Given the description of an element on the screen output the (x, y) to click on. 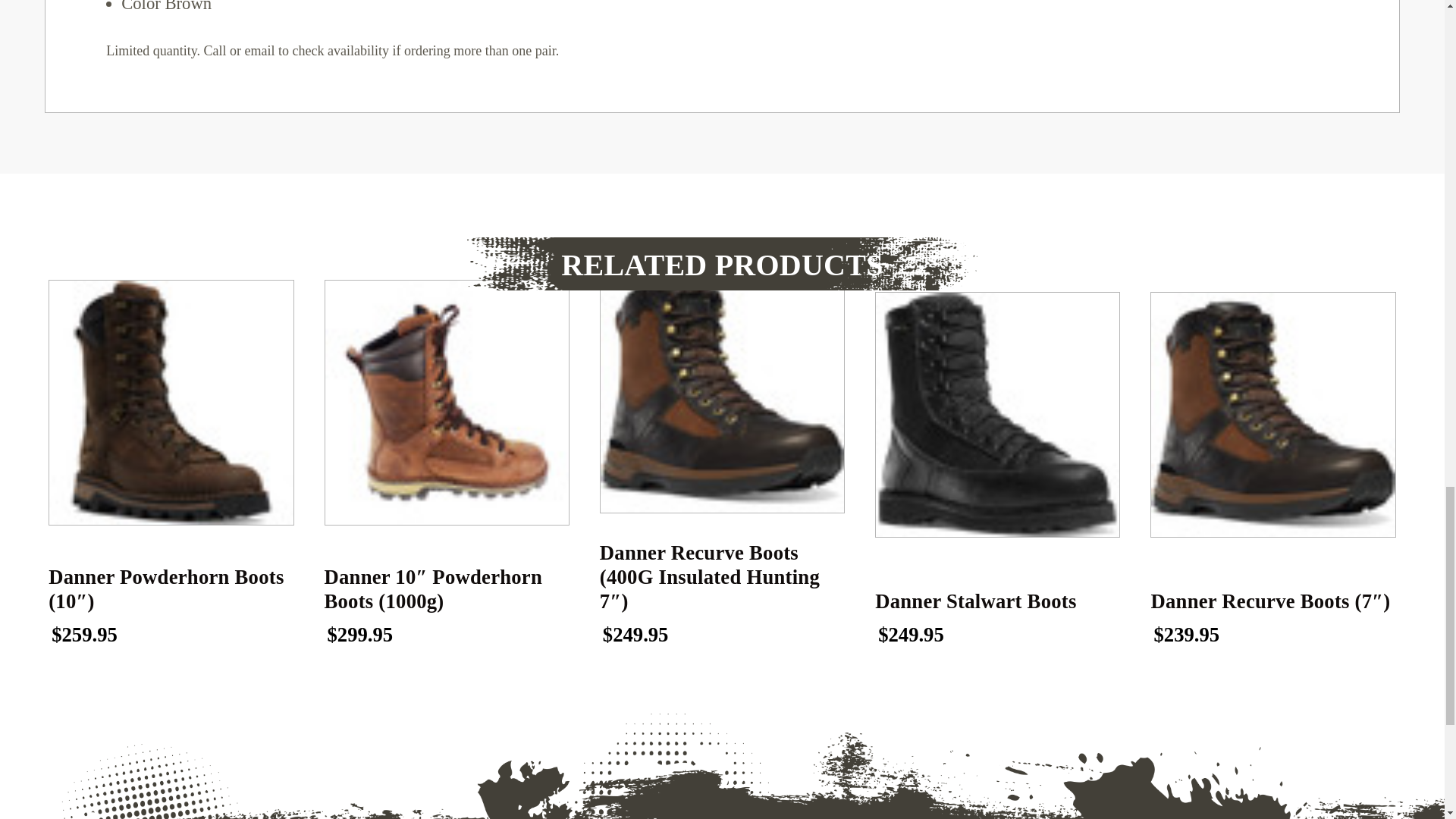
Danner Recurve Boot (1272, 414)
Powderhorn Boot (446, 402)
Danner Powderhorn (171, 402)
Danner Recurve (721, 389)
Danner Stalwart Boots (997, 414)
